Given the description of an element on the screen output the (x, y) to click on. 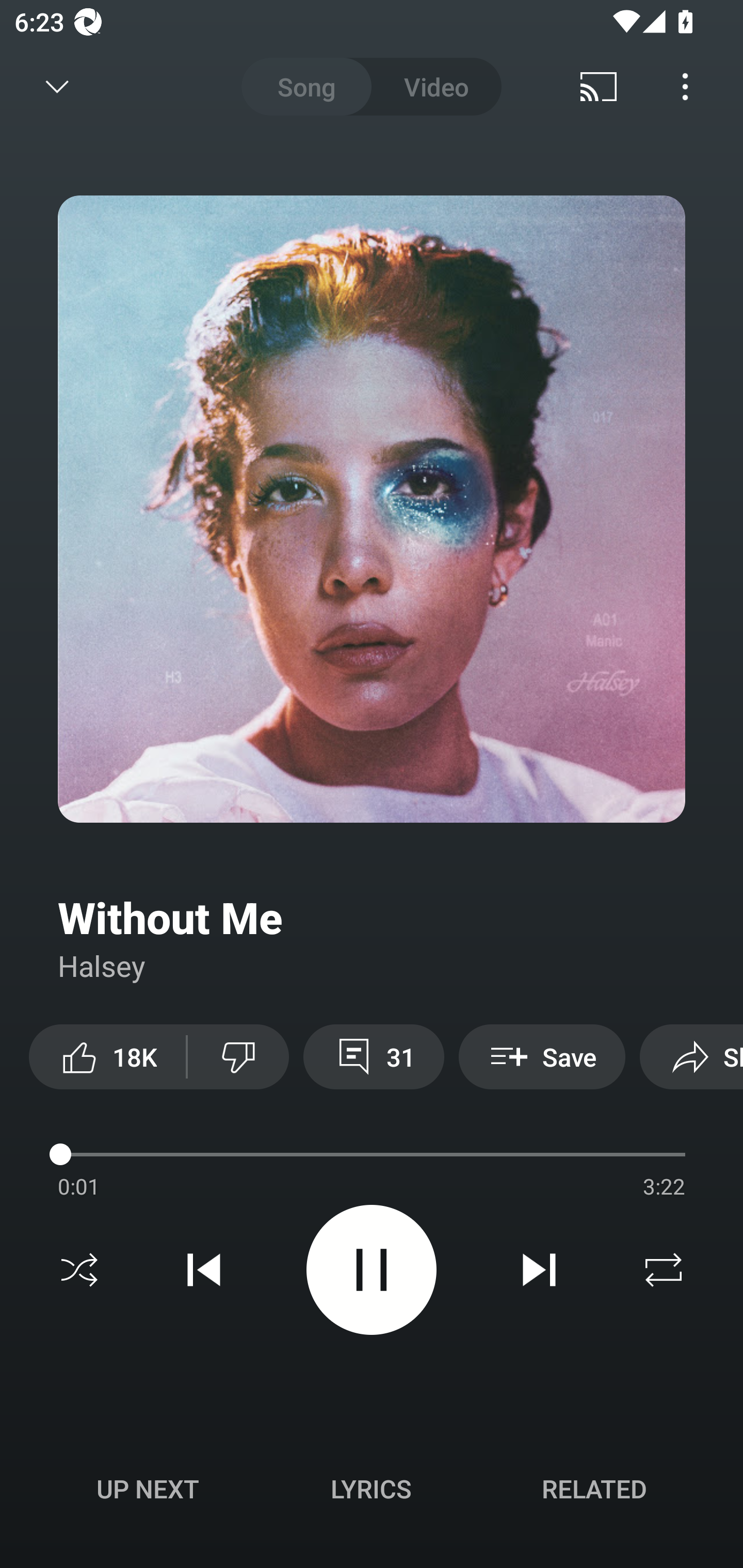
Minimize (57, 86)
Cast. Disconnected (598, 86)
Menu (684, 86)
18K like this video along with 18,871 other people (106, 1056)
Dislike (238, 1056)
31 View 31 comments (373, 1056)
Save Save to playlist (541, 1056)
Share (691, 1056)
Pause video (371, 1269)
Shuffle off (79, 1269)
Previous track (203, 1269)
Next track (538, 1269)
Repeat off (663, 1269)
Up next UP NEXT Lyrics LYRICS Related RELATED (371, 1491)
Lyrics LYRICS (370, 1488)
Related RELATED (594, 1488)
